Given the description of an element on the screen output the (x, y) to click on. 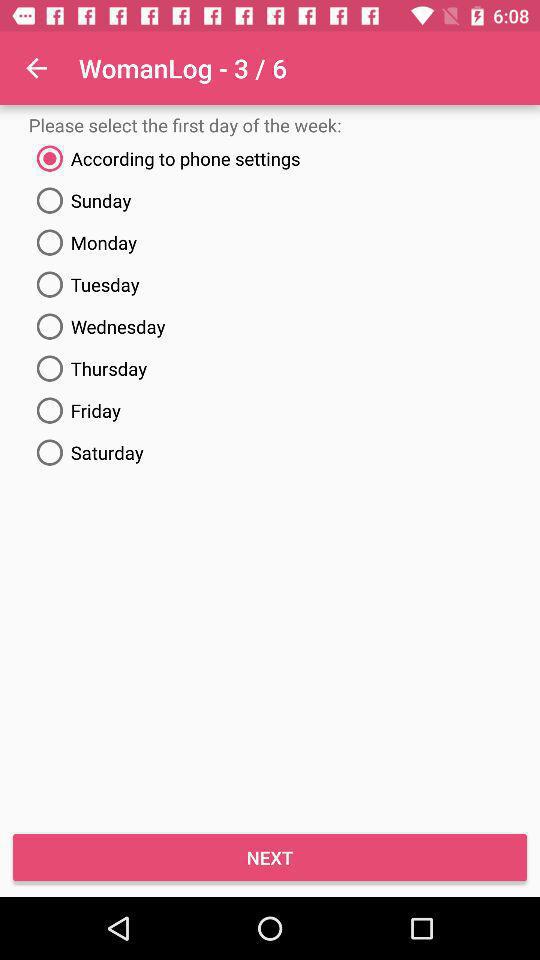
open friday item (269, 410)
